Given the description of an element on the screen output the (x, y) to click on. 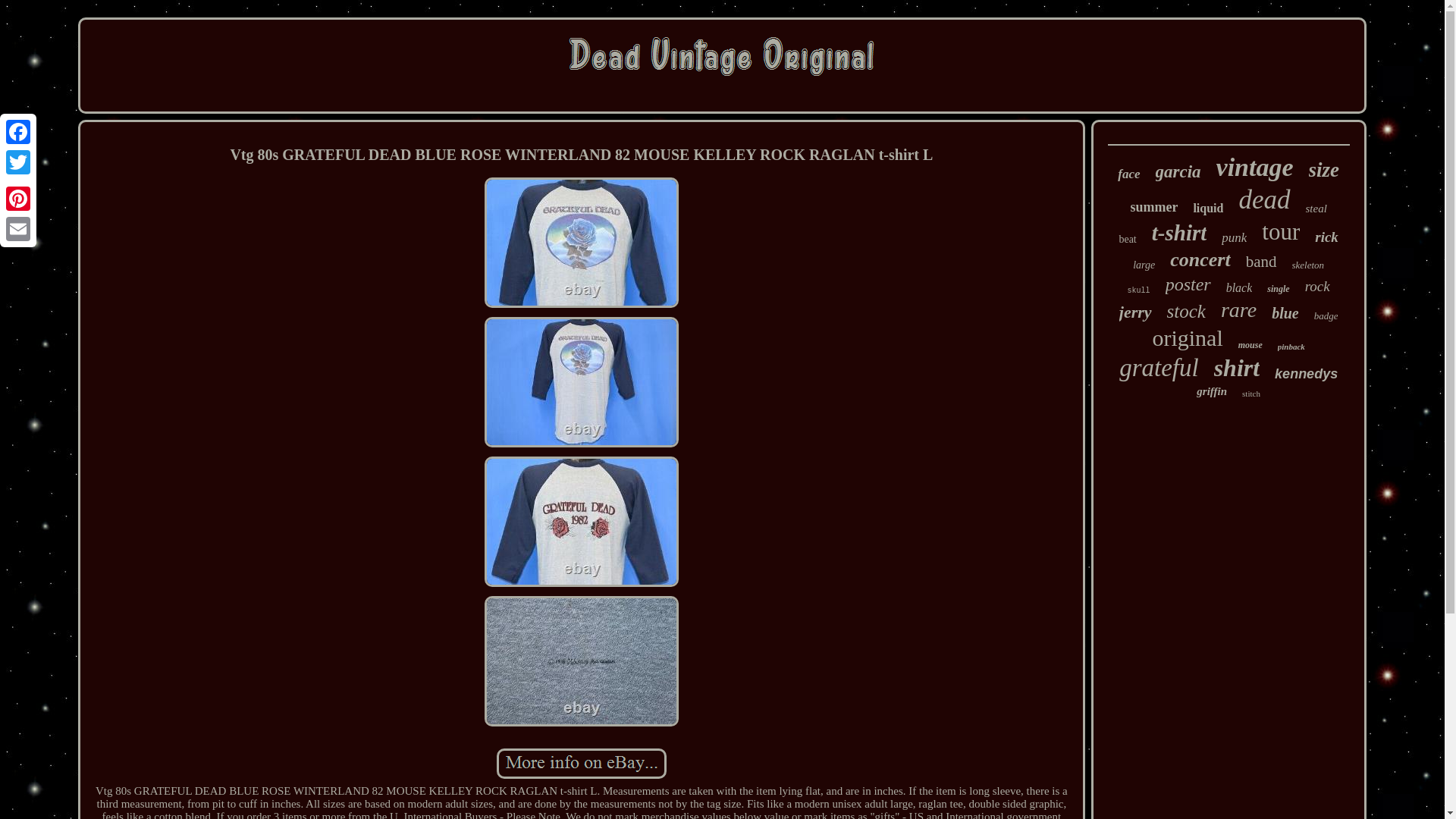
steal (1316, 208)
poster (1188, 284)
jerry (1135, 312)
rick (1326, 237)
punk (1233, 237)
rock (1317, 286)
badge (1326, 316)
band (1261, 261)
concert (1200, 259)
beat (1126, 239)
black (1238, 287)
dead (1264, 200)
Twitter (17, 162)
